Given the description of an element on the screen output the (x, y) to click on. 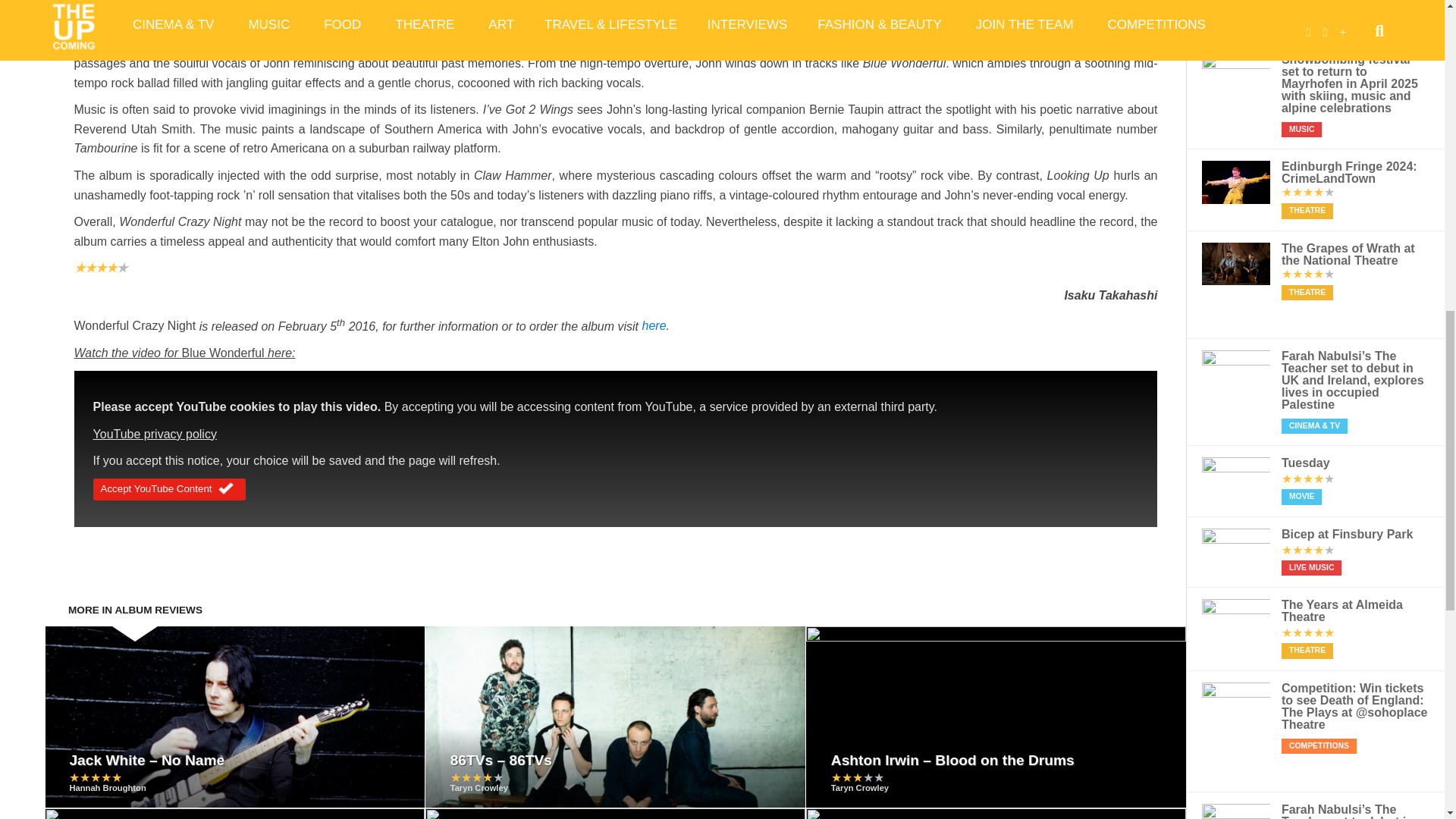
4 out of 5 stars (476, 777)
3 out of 5 stars (857, 777)
5 out of 5 stars (95, 777)
4 out of 5 stars (101, 267)
